Given the description of an element on the screen output the (x, y) to click on. 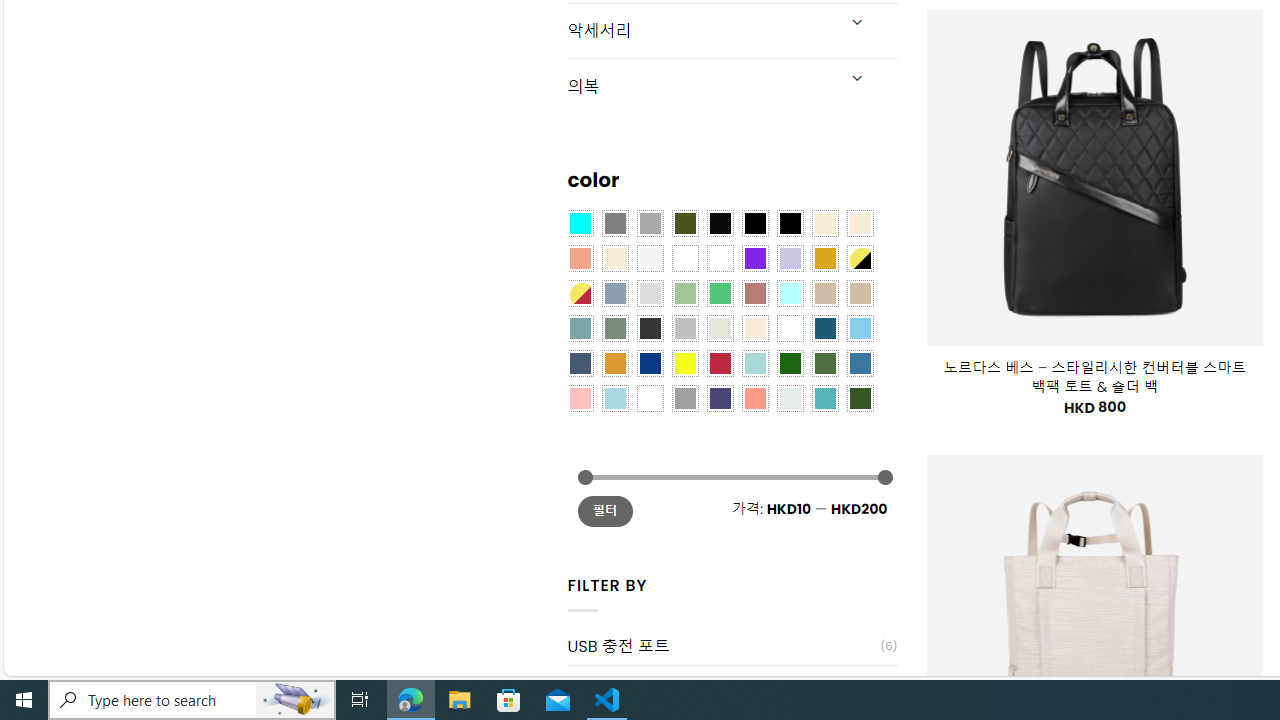
Kelp (719, 257)
Cream (614, 257)
